Given the description of an element on the screen output the (x, y) to click on. 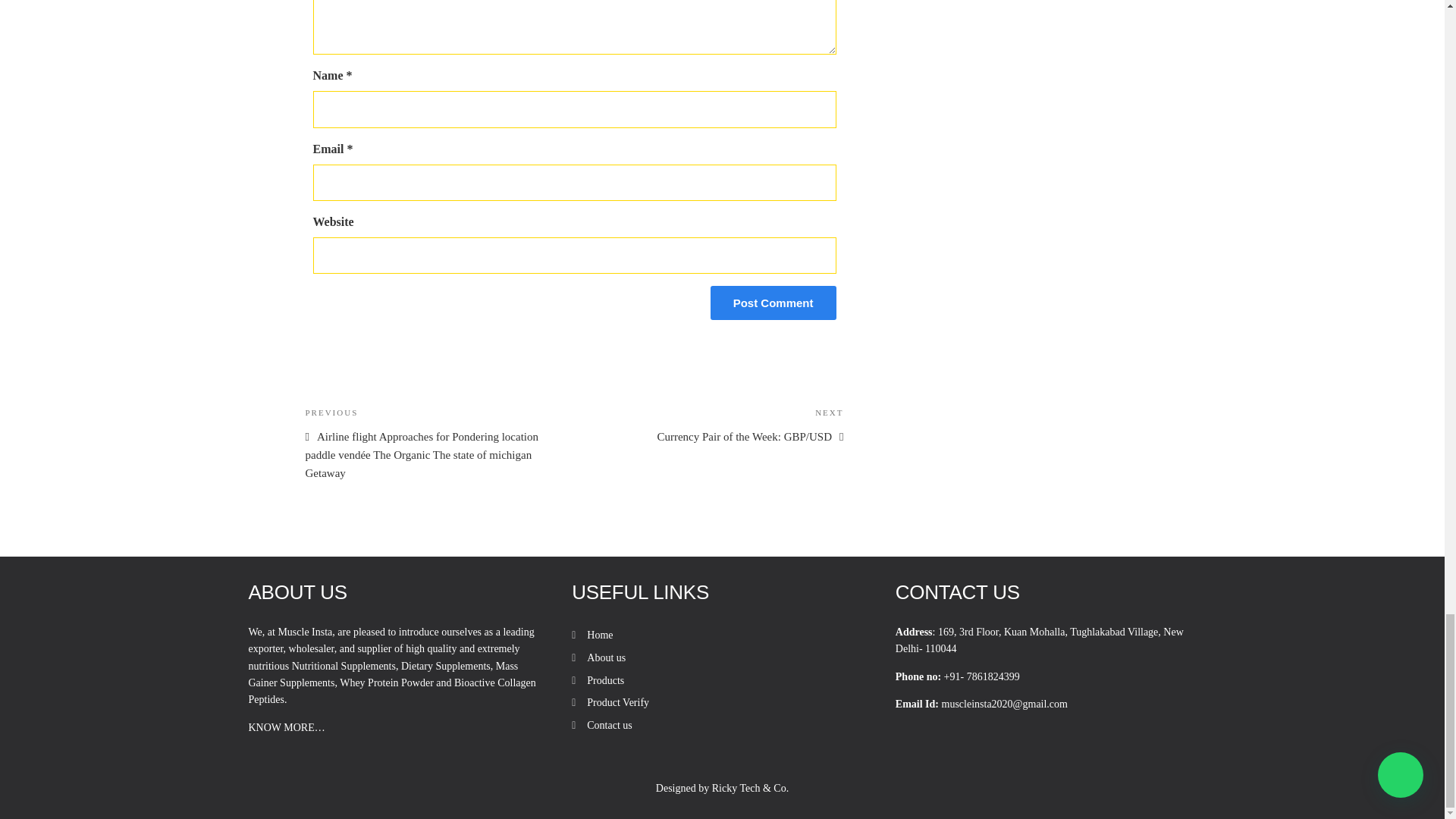
Home (599, 634)
Contact us (608, 725)
Post Comment (772, 302)
Product Verify (617, 702)
Post Comment (772, 302)
Products (605, 680)
About us (606, 657)
